Given the description of an element on the screen output the (x, y) to click on. 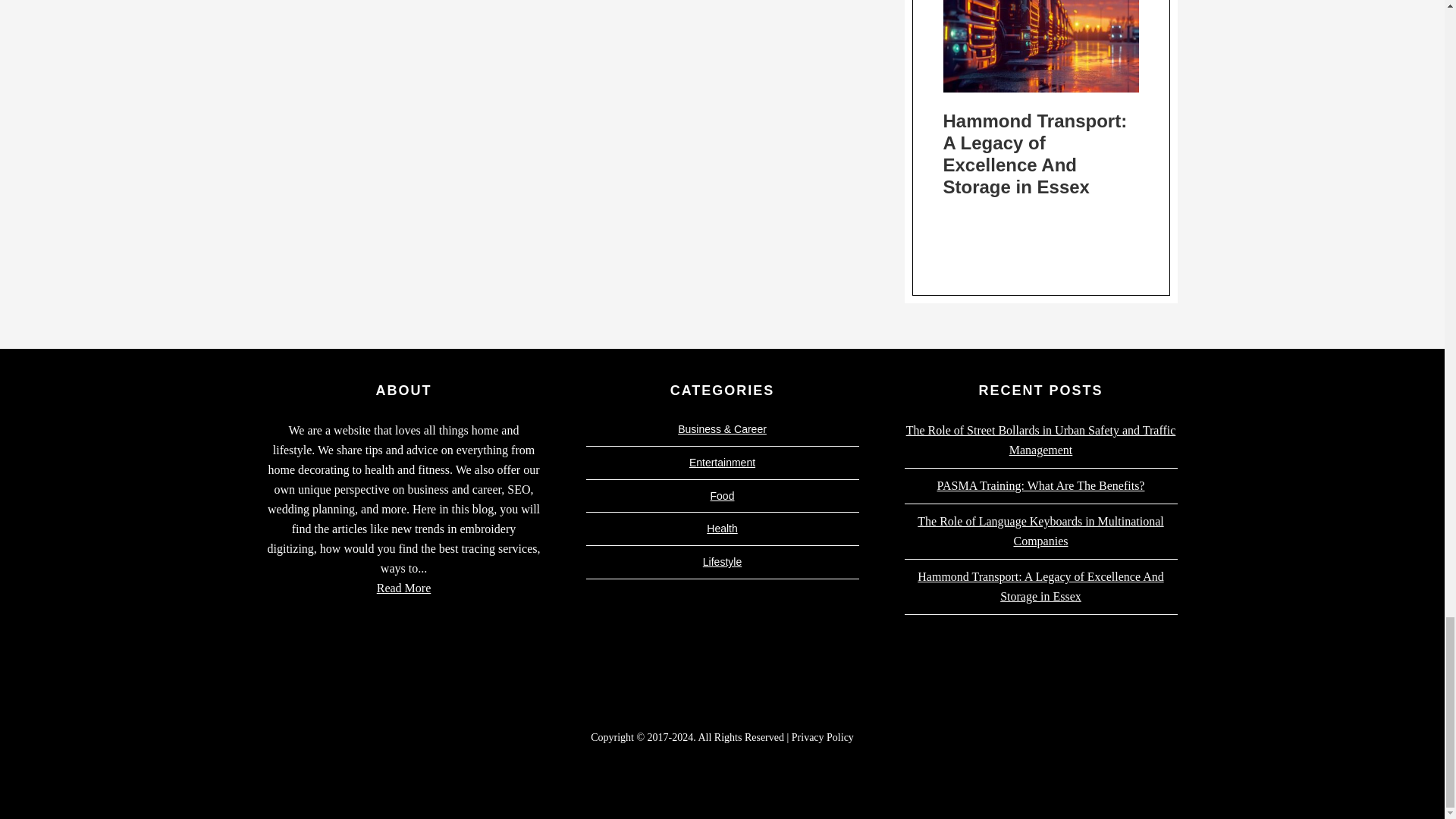
Read More (403, 587)
